Given the description of an element on the screen output the (x, y) to click on. 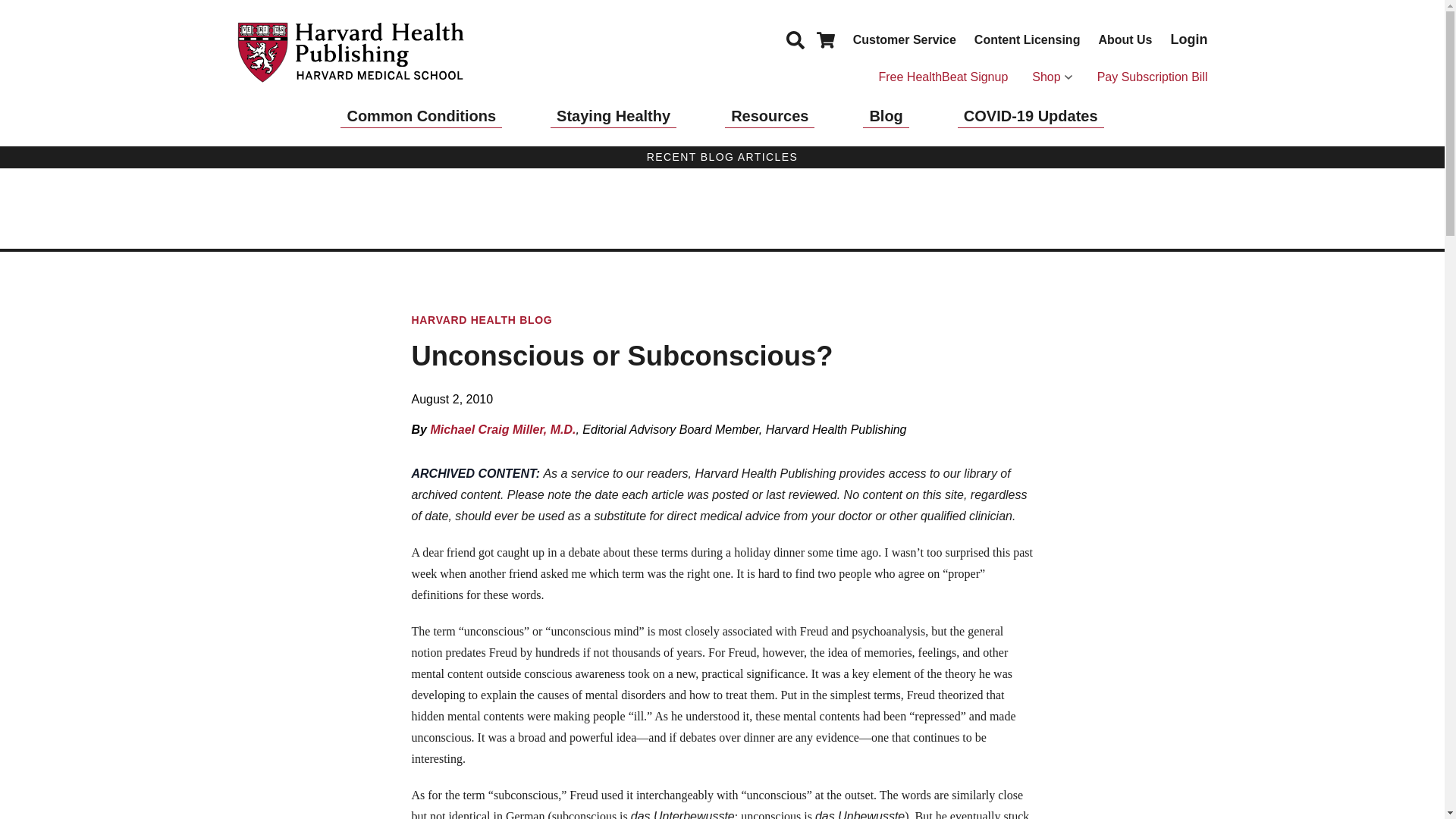
Pay Subscription Bill (1152, 76)
Blog (885, 115)
Shop (1051, 76)
Common Conditions (421, 115)
Content Licensing (1027, 39)
Staying Healthy (613, 115)
Harvard Health Publishing (349, 52)
Search (795, 39)
COVID-19 Updates (1030, 115)
Resources (769, 115)
Customer Service (904, 39)
Free HealthBeat Signup (942, 76)
Shopping Cart (825, 39)
Login (1189, 39)
About Us (1124, 39)
